Given the description of an element on the screen output the (x, y) to click on. 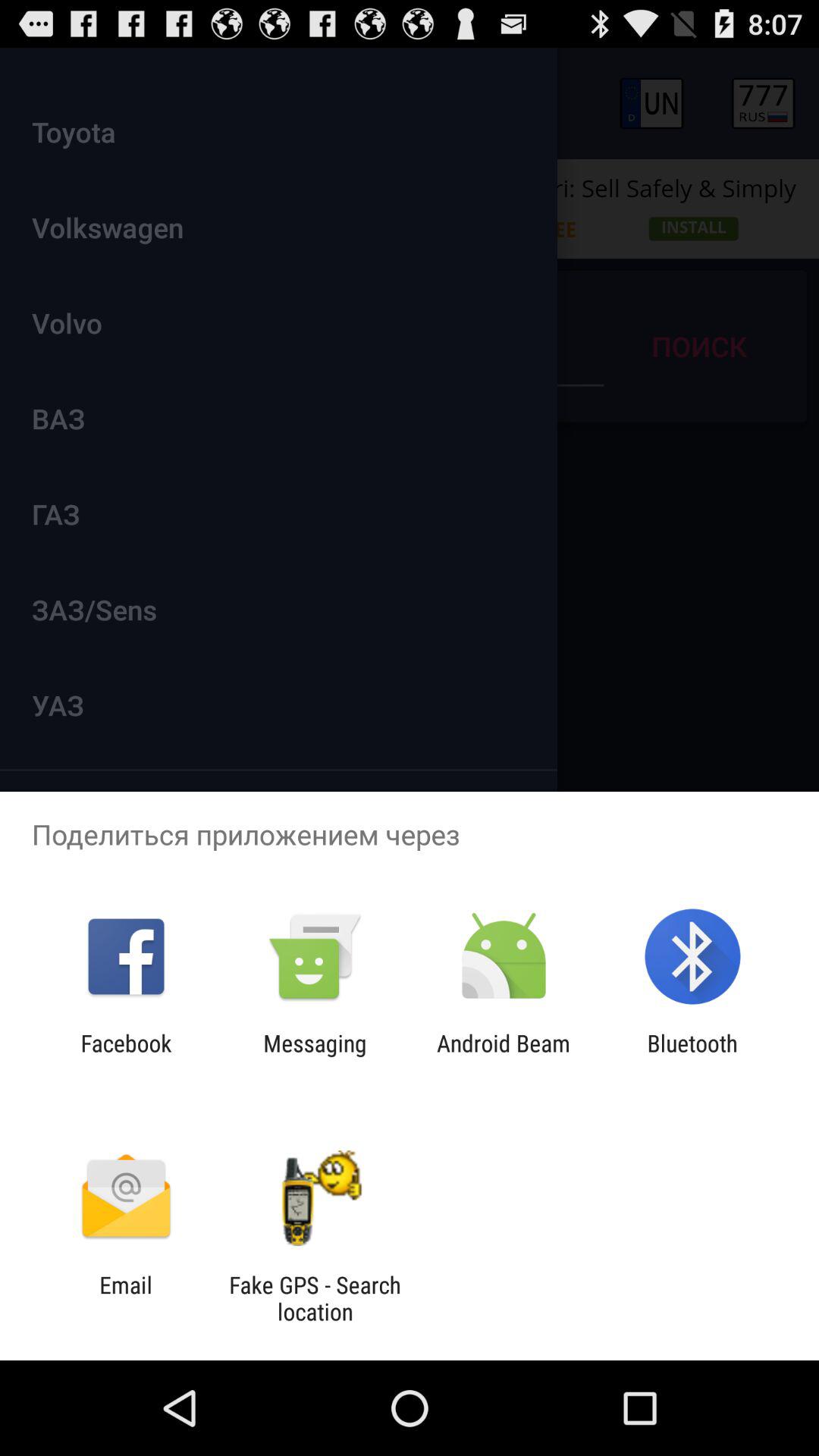
jump until android beam icon (503, 1056)
